Given the description of an element on the screen output the (x, y) to click on. 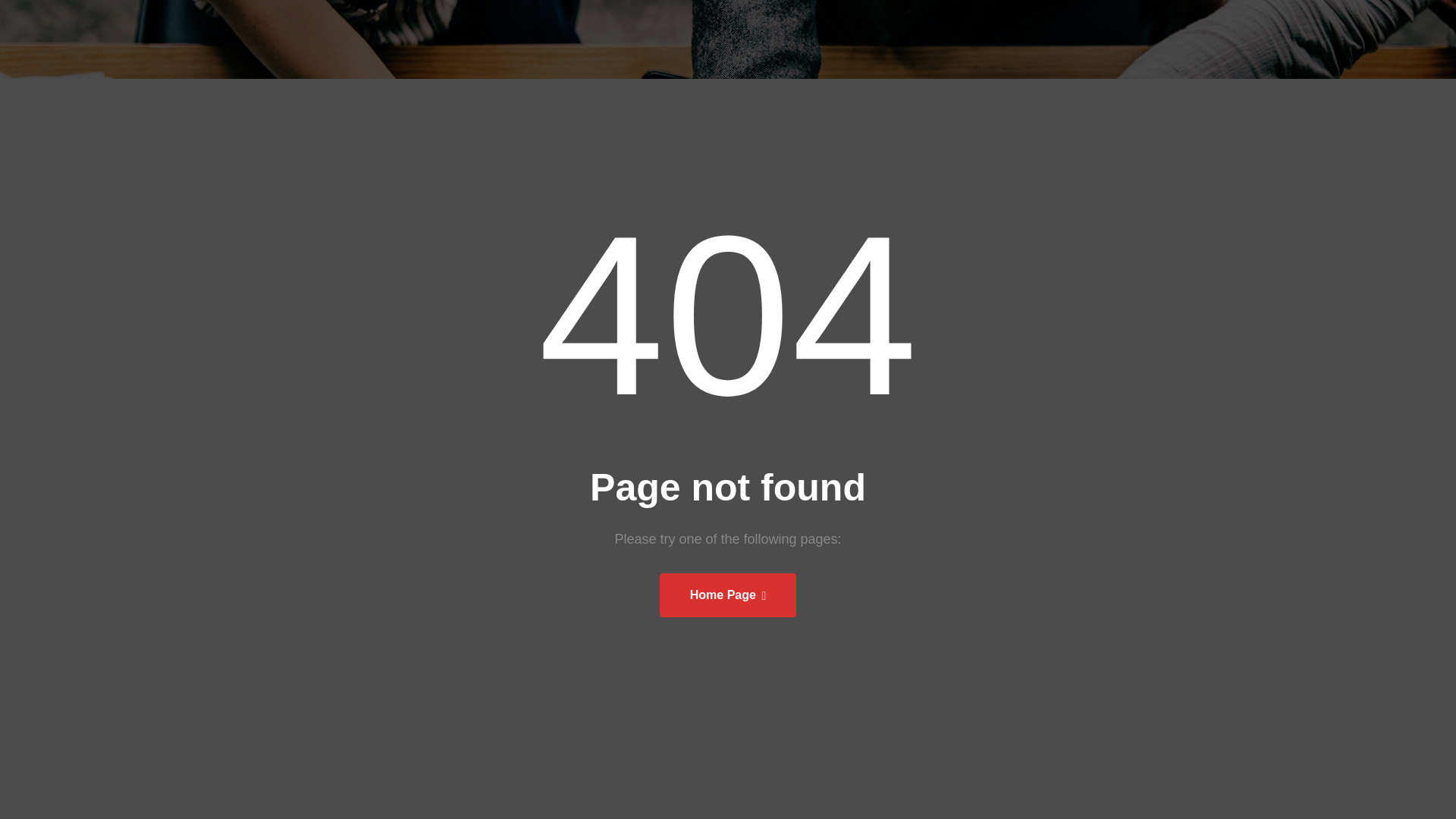
Home Page Element type: text (727, 595)
